Given the description of an element on the screen output the (x, y) to click on. 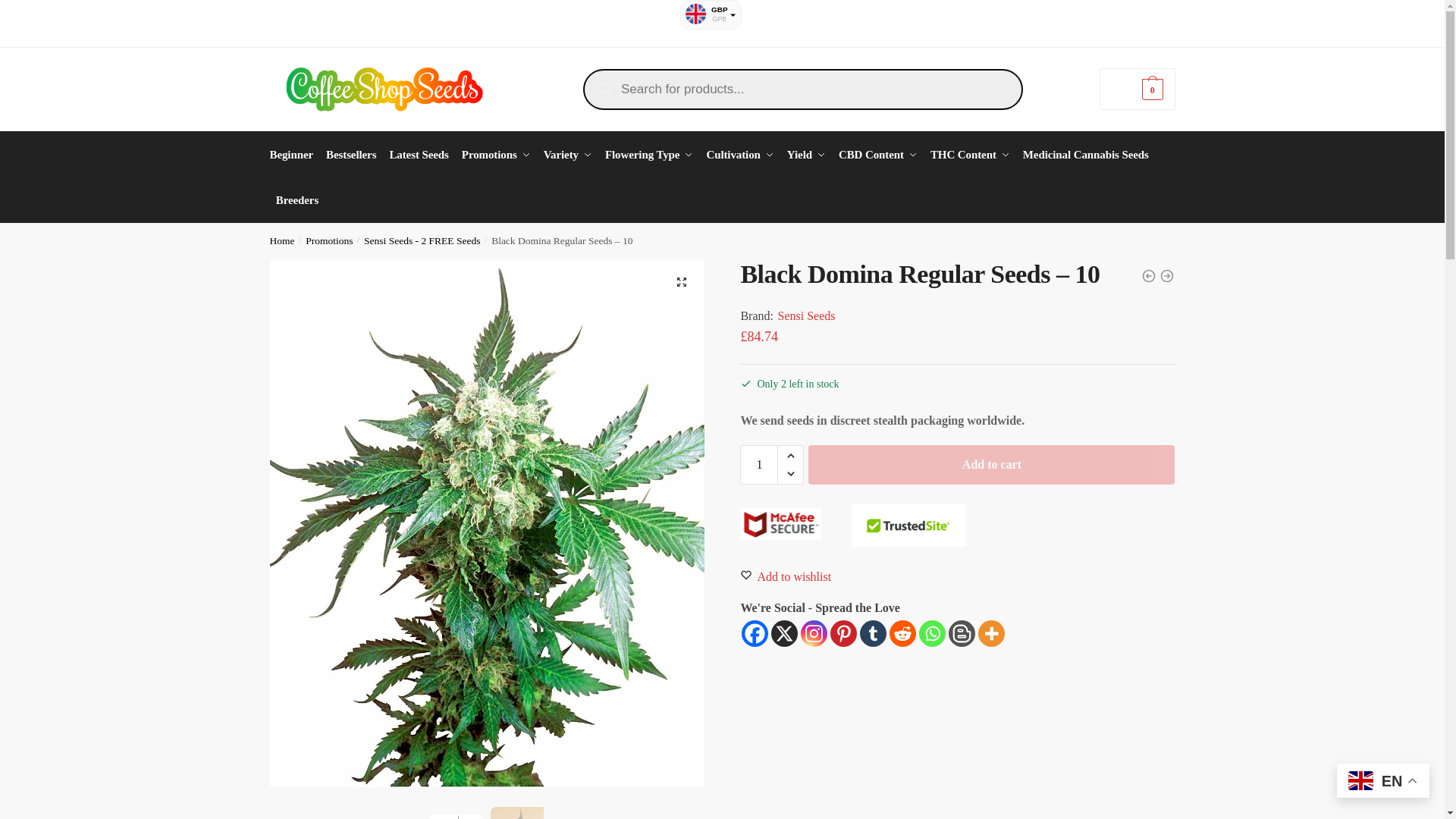
Flowering Type (649, 154)
Cultivation (740, 154)
View your shopping cart (1136, 88)
More (991, 633)
X (784, 633)
Blogger Post (962, 633)
Beginner (294, 154)
Facebook (754, 633)
Bestsellers (351, 154)
Tumblr (873, 633)
View brand (806, 315)
Pinterest (843, 633)
Variety (567, 154)
Promotions (496, 154)
Reddit (902, 633)
